Given the description of an element on the screen output the (x, y) to click on. 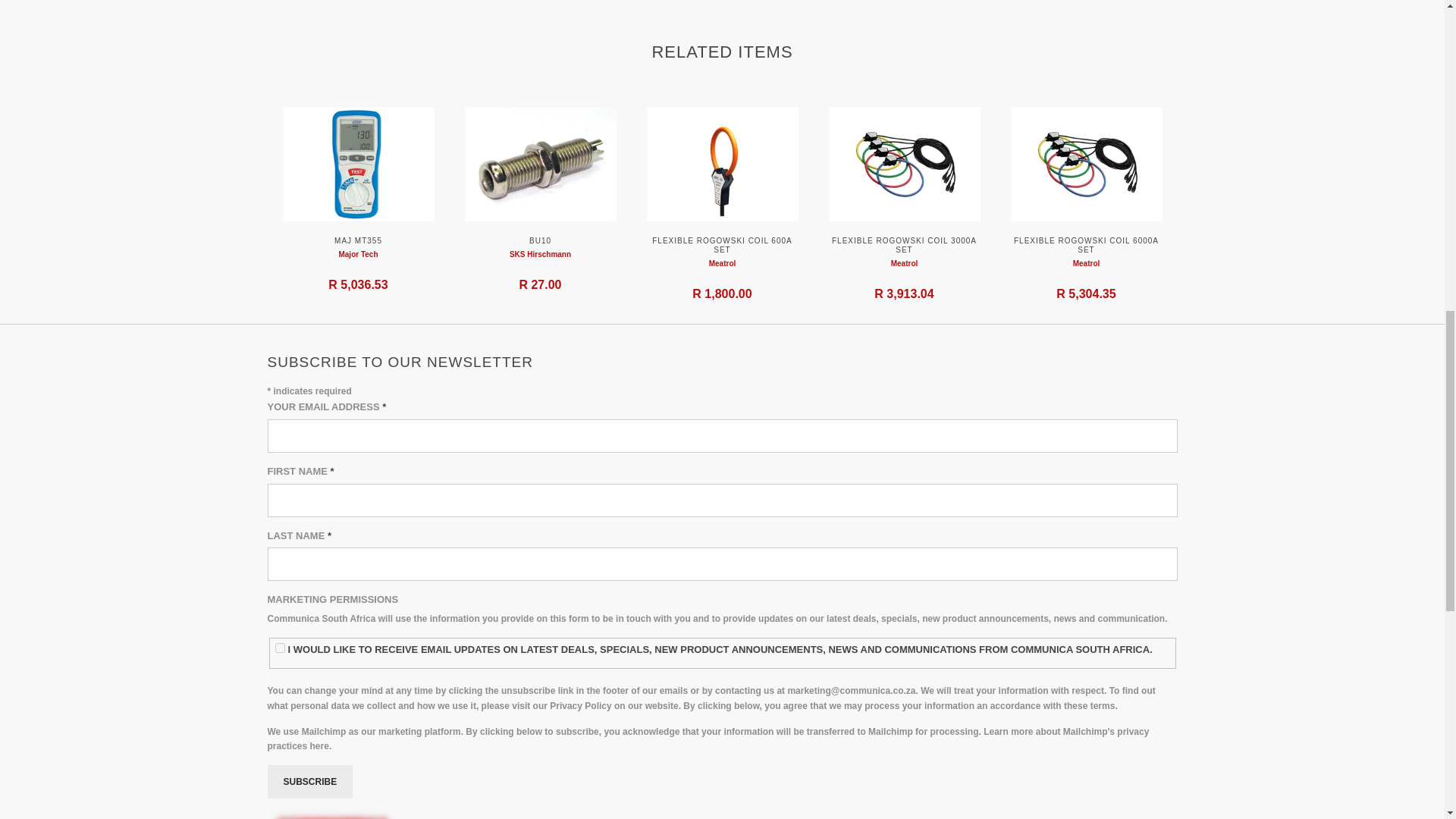
Y (280, 647)
Subscribe (309, 781)
